Given the description of an element on the screen output the (x, y) to click on. 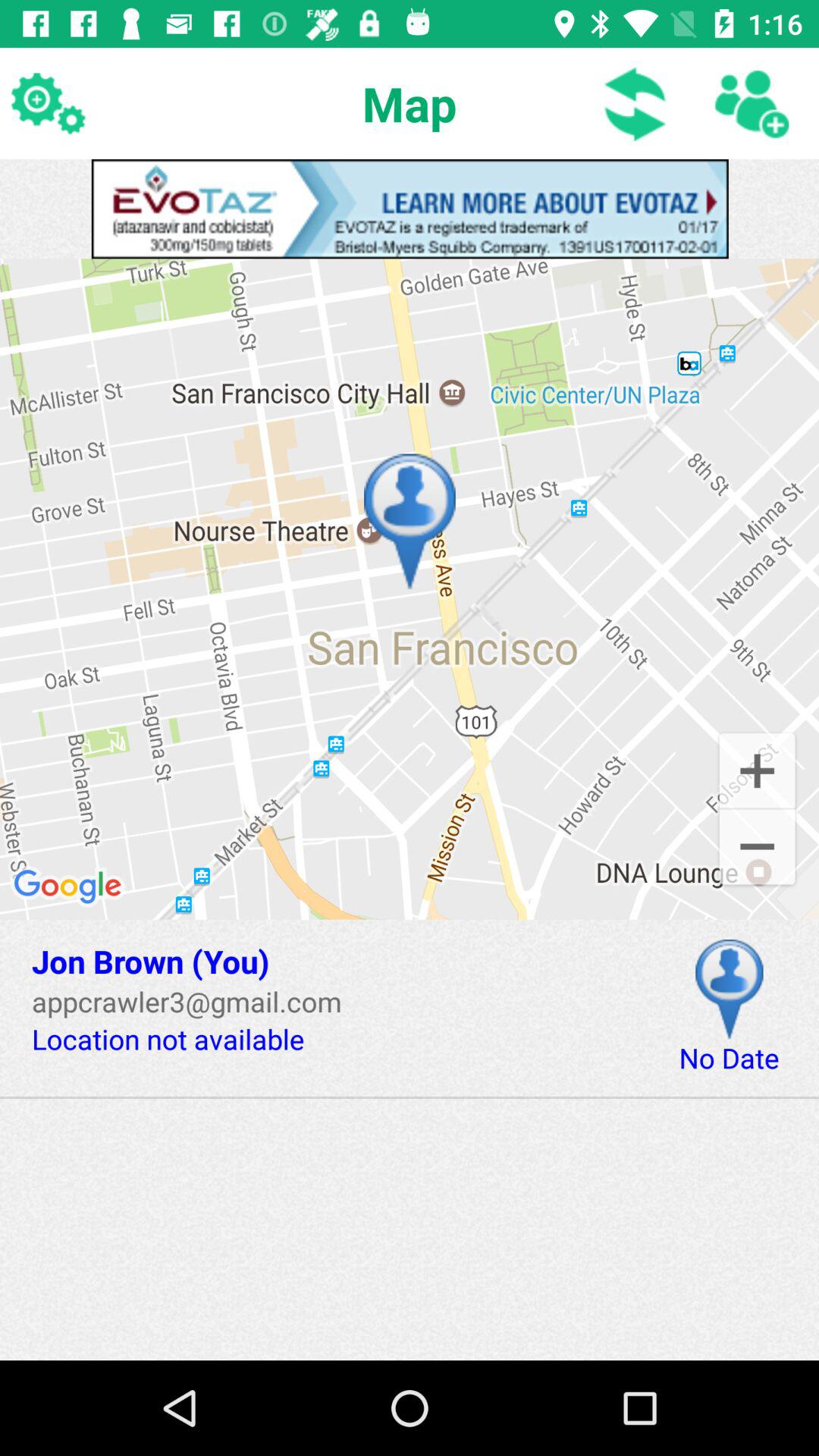
open options menu (47, 103)
